Given the description of an element on the screen output the (x, y) to click on. 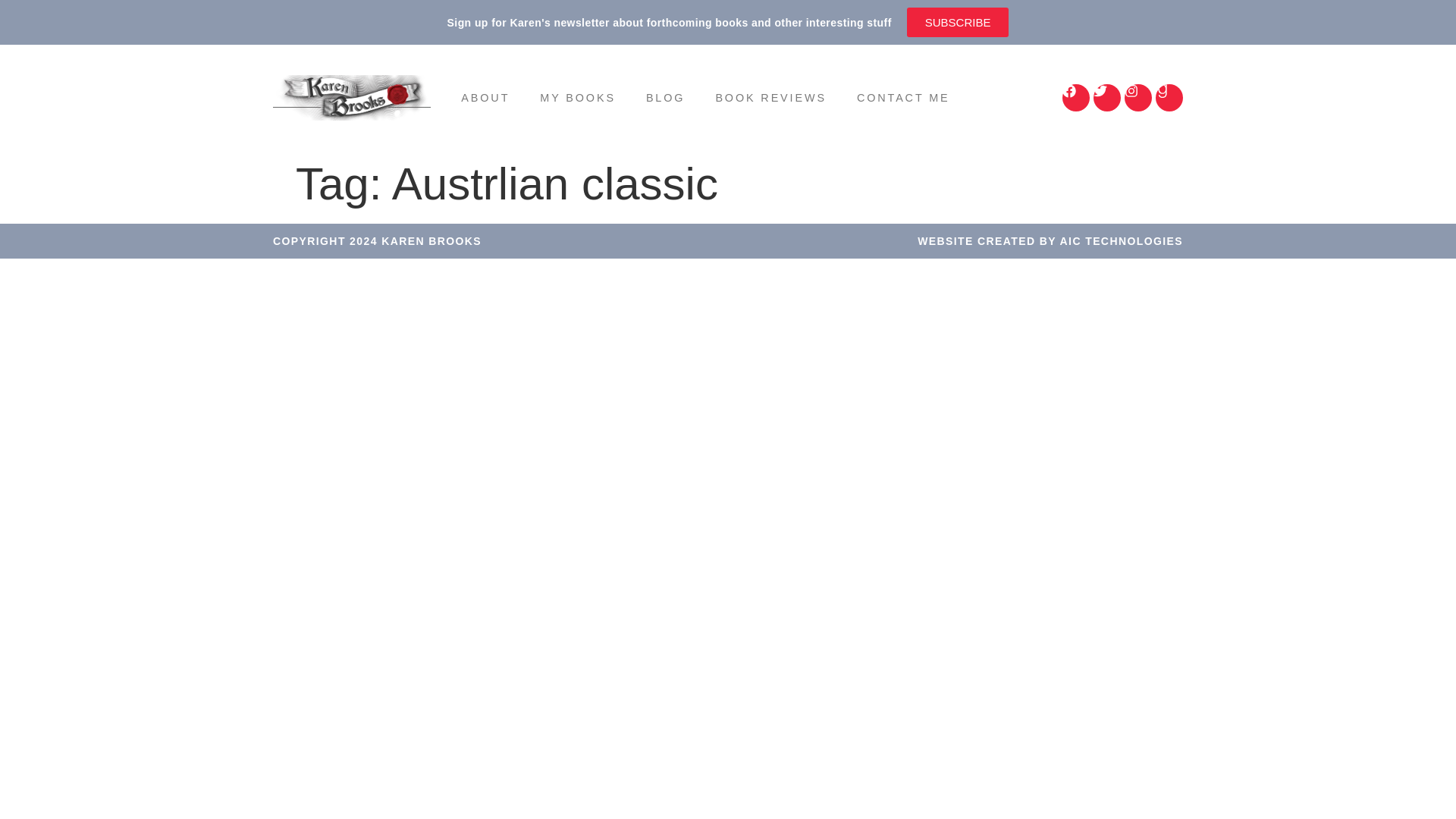
MY BOOKS (577, 97)
ABOUT (484, 97)
BOOK REVIEWS (770, 97)
CONTACT ME (903, 97)
BLOG (665, 97)
AIC TECHNOLOGIES (1120, 241)
SUBSCRIBE (958, 21)
